Given the description of an element on the screen output the (x, y) to click on. 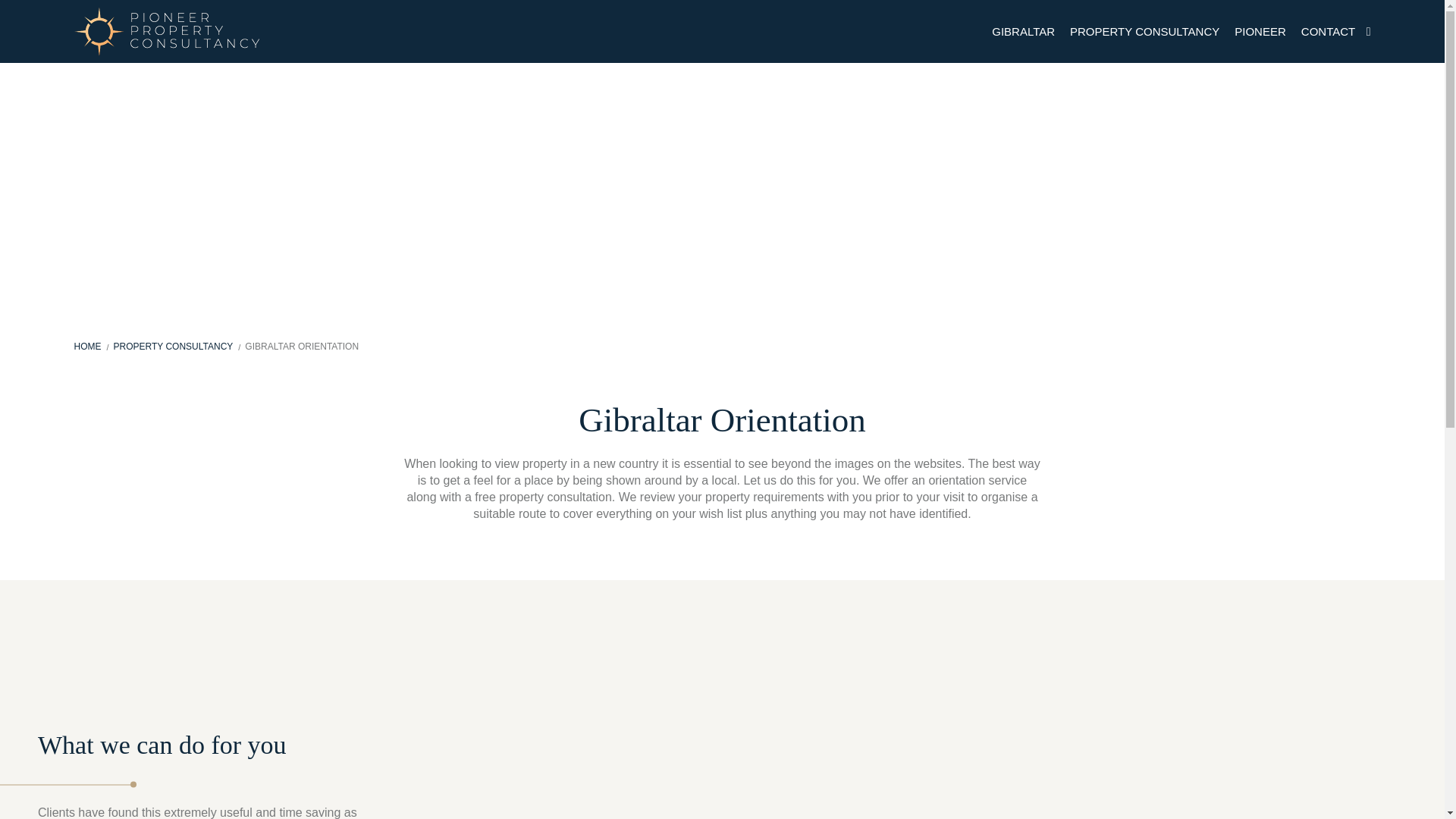
Back (90, 303)
PROPERTY CONSULTANCY (1144, 31)
GIBRALTAR (1023, 31)
Home (87, 346)
CONTACT (1328, 31)
PIONEER (1260, 31)
Pioneer Property Consultancy (166, 30)
Property Consultancy (172, 346)
